Given the description of an element on the screen output the (x, y) to click on. 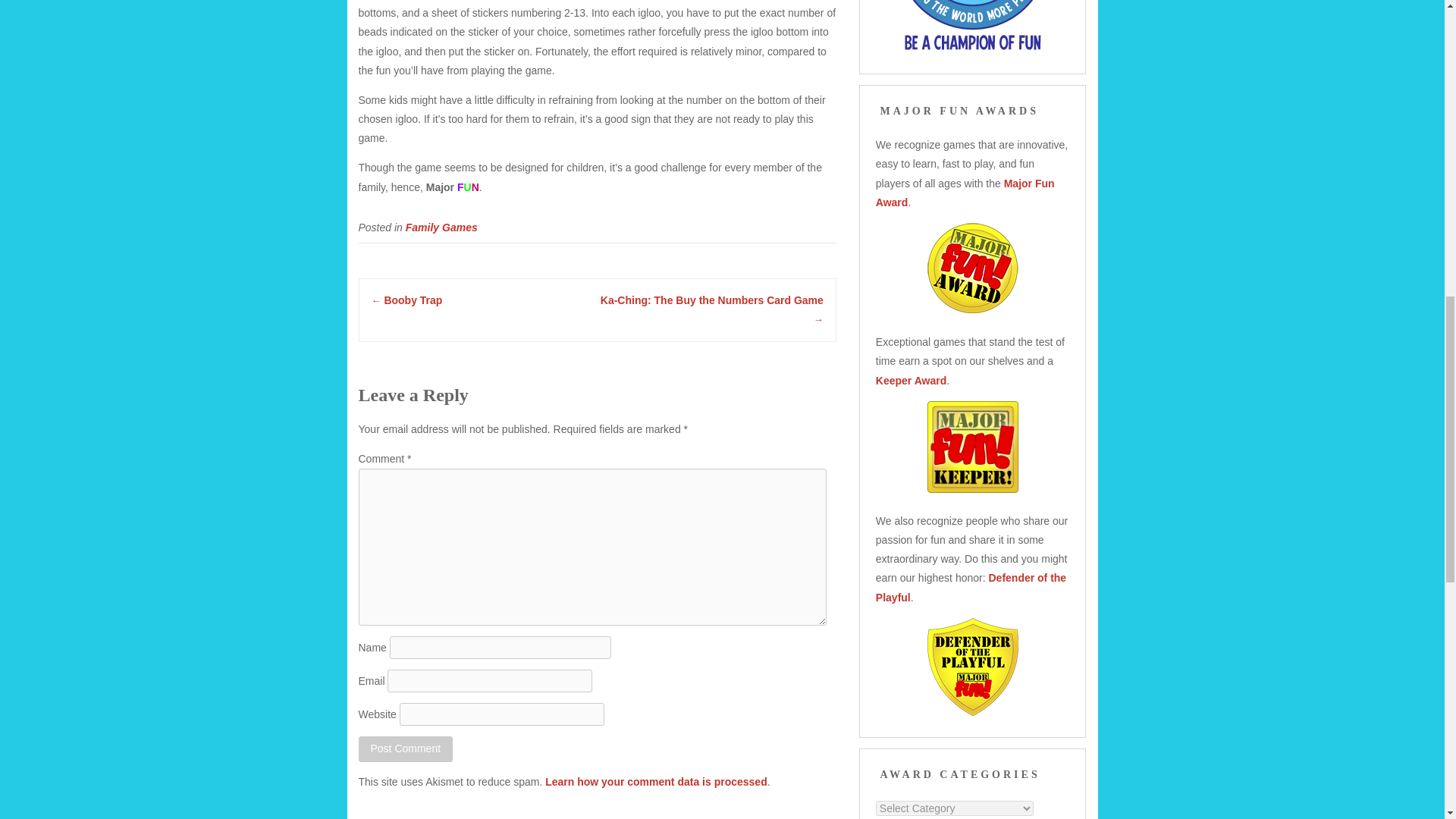
Post Comment (405, 748)
Learn how your comment data is processed (655, 781)
Defender of the Playful (970, 586)
Post Comment (405, 748)
Keeper Award (911, 380)
Family Games (441, 227)
Major Fun Award (965, 192)
